Given the description of an element on the screen output the (x, y) to click on. 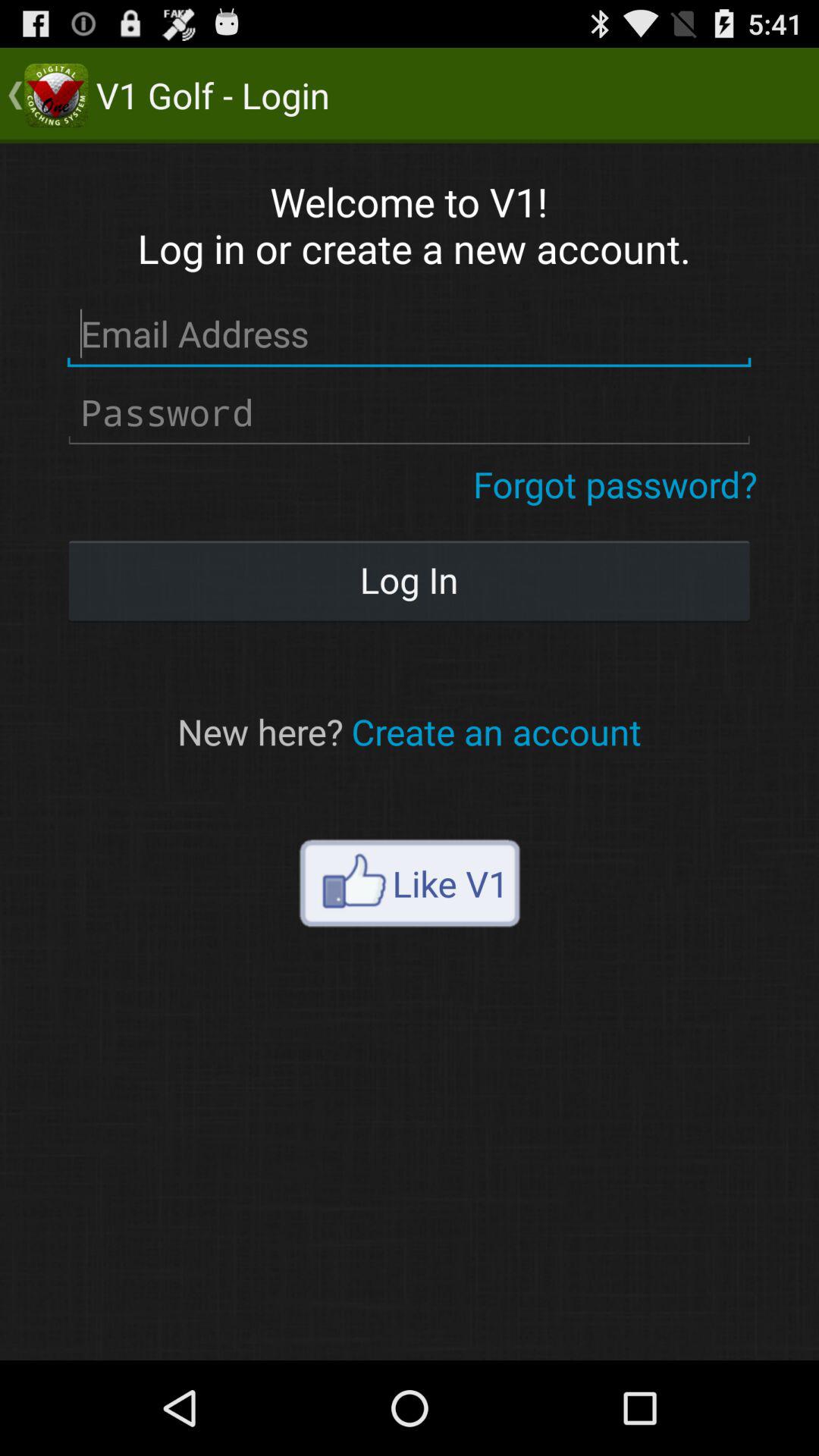
enter password (408, 412)
